Given the description of an element on the screen output the (x, y) to click on. 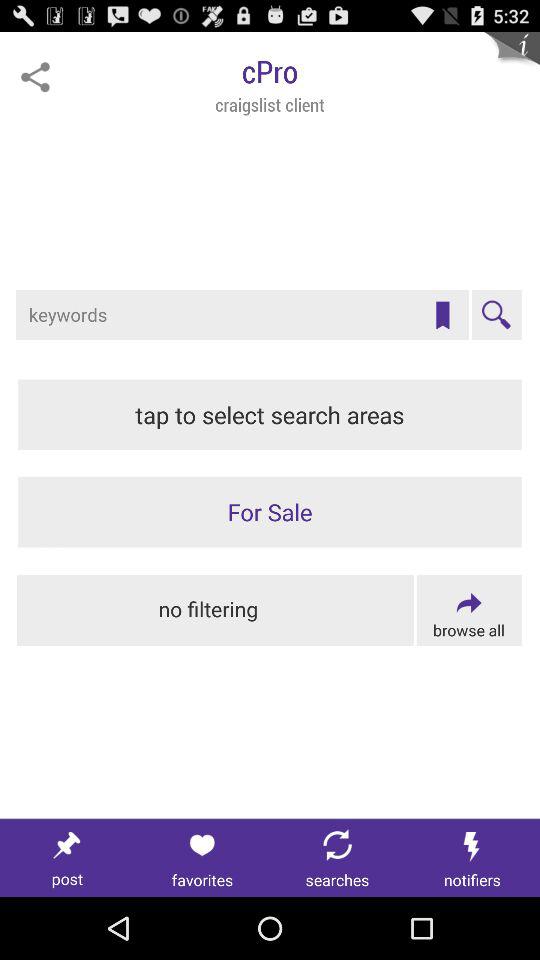
view favorites (202, 858)
